Given the description of an element on the screen output the (x, y) to click on. 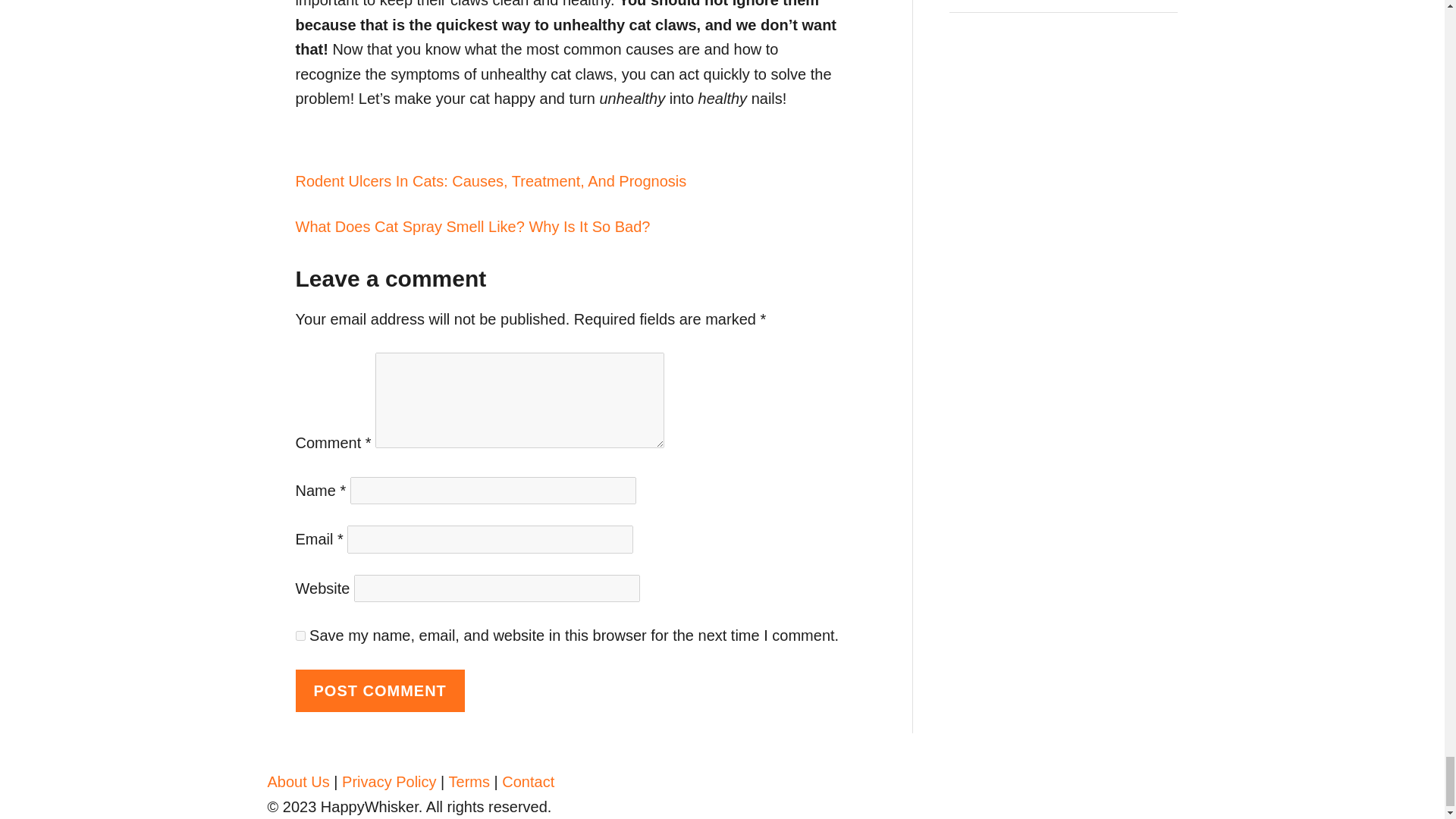
Post Comment (379, 690)
Rodent Ulcers In Cats: Causes, Treatment, And Prognosis (571, 181)
Privacy Policy (388, 781)
Contact (528, 781)
What Does Cat Spray Smell Like? Why Is It So Bad? (571, 226)
Terms (468, 781)
yes (300, 635)
Post Comment (379, 690)
About Us (297, 781)
